Given the description of an element on the screen output the (x, y) to click on. 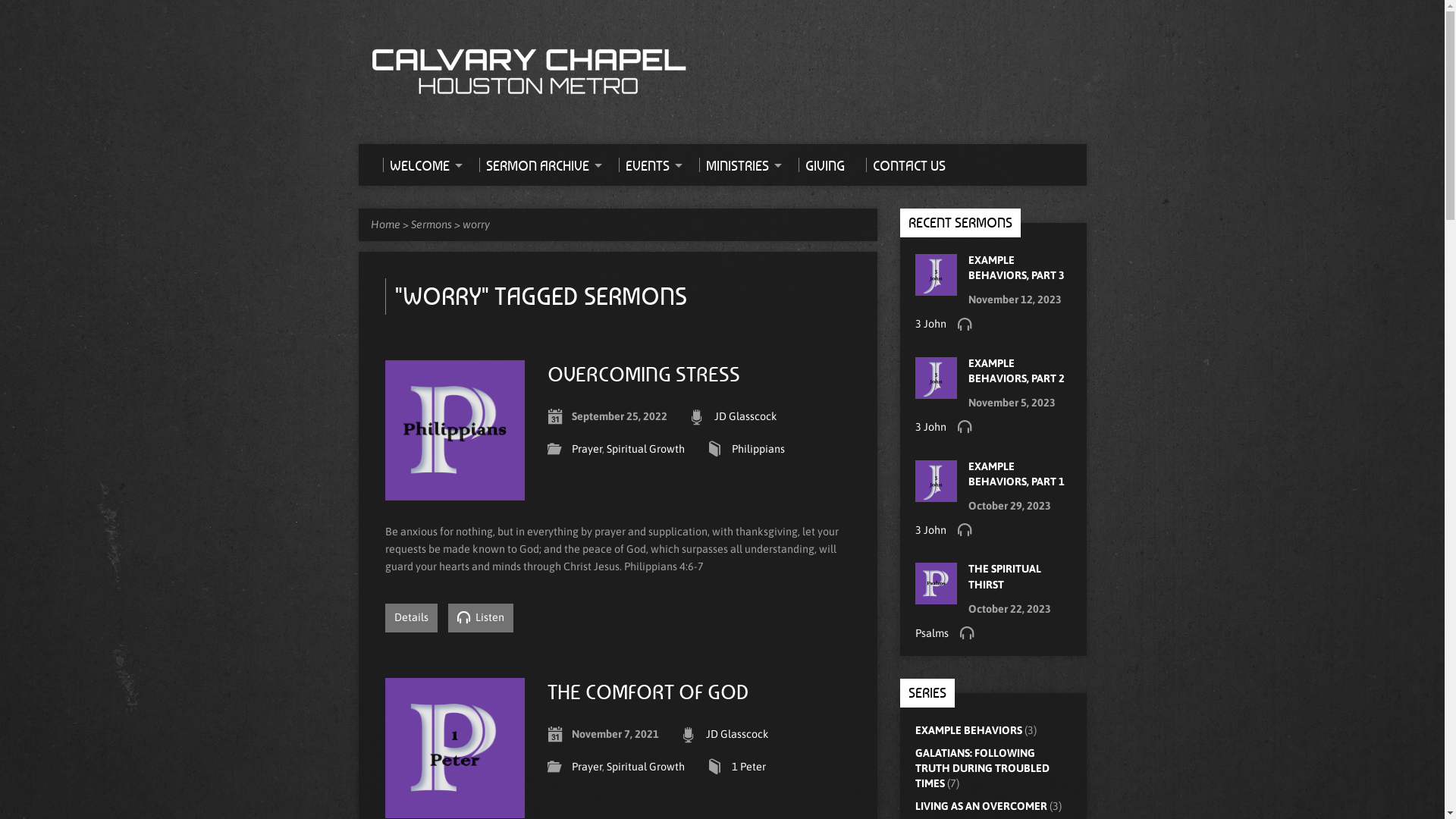
GALATIANS: FOLLOWING TRUTH DURING TROUBLED TIMES Element type: text (981, 767)
LIVING AS AN OVERCOMER Element type: text (980, 806)
3 John Element type: text (929, 323)
3 John Element type: text (929, 426)
3 John Element type: text (929, 530)
EXAMPLE BEHAVIORS, PART 3 Element type: text (1015, 267)
Philippians Element type: text (757, 448)
GIVING Element type: text (820, 164)
OVERCOMING STRESS Element type: text (643, 373)
Listen to Audio Element type: hover (963, 529)
THE COMFORT OF GOD Element type: text (648, 691)
Sermons Element type: text (431, 224)
The Spiritual Thirst Element type: hover (935, 596)
EXAMPLE BEHAVIORS Element type: text (967, 730)
Psalms Element type: text (930, 633)
JD Glasscock Element type: text (737, 734)
THE SPIRITUAL THIRST Element type: text (1003, 575)
EXAMPLE BEHAVIORS, PART 1 Element type: text (1015, 473)
MINISTRIES Element type: text (738, 164)
Example Behaviors, Part 3 Element type: hover (935, 288)
The Comfort of God Element type: hover (455, 809)
Details Element type: text (411, 617)
worry Element type: text (475, 224)
Prayer Element type: text (586, 448)
Listen Element type: text (479, 617)
Spiritual Growth Element type: text (645, 766)
Overcoming Stress Element type: hover (455, 490)
Example Behaviors, Part 2 Element type: hover (935, 391)
Listen to Audio Element type: hover (963, 426)
CONTACT US Element type: text (905, 164)
Listen to Audio Element type: hover (963, 323)
Prayer Element type: text (586, 766)
SERMON ARCHIVE Element type: text (538, 164)
Spiritual Growth Element type: text (645, 448)
Home Element type: text (384, 224)
Example Behaviors, Part 1 Element type: hover (935, 493)
WELCOME Element type: text (419, 164)
Listen to Audio Element type: hover (966, 632)
1 Peter Element type: text (748, 766)
EVENTS Element type: text (647, 164)
JD Glasscock Element type: text (745, 416)
EXAMPLE BEHAVIORS, PART 2 Element type: text (1015, 370)
